Given the description of an element on the screen output the (x, y) to click on. 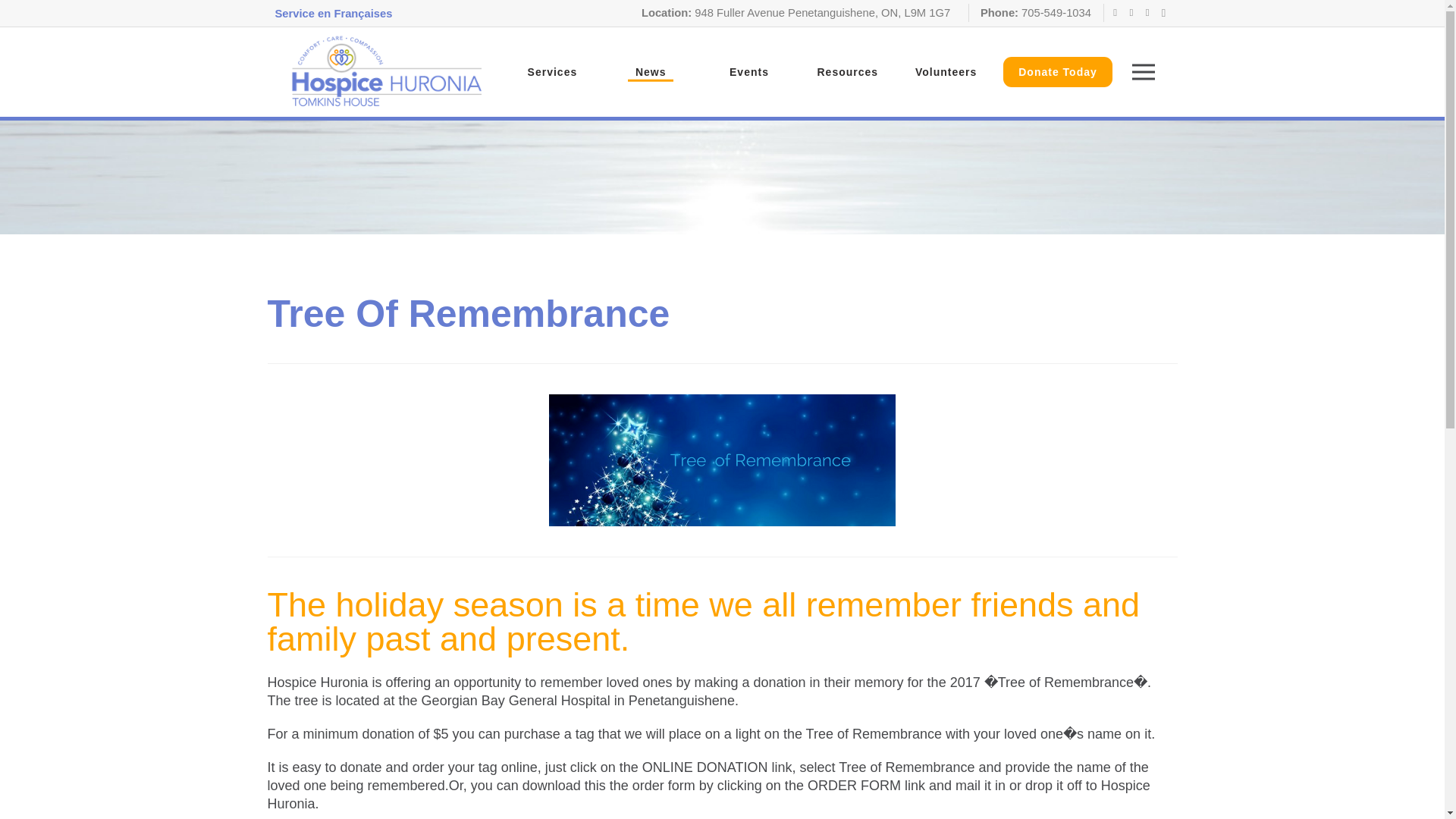
705-549-1034 (1053, 12)
Open the menu (1142, 72)
Services (552, 72)
Hospice Huronia News Page (650, 72)
Hospice Huronia Resources Page (847, 72)
Hospice Huronia Volunteers Page (945, 72)
Hospice Huronia Donations Page (1057, 72)
Resources (847, 72)
News (650, 72)
Donate Today (1057, 72)
Volunteers (945, 72)
Return to home page (384, 72)
Hospice Huronia Services Page (552, 72)
Hospice Huronia Events Page (749, 72)
Events (749, 72)
